Given the description of an element on the screen output the (x, y) to click on. 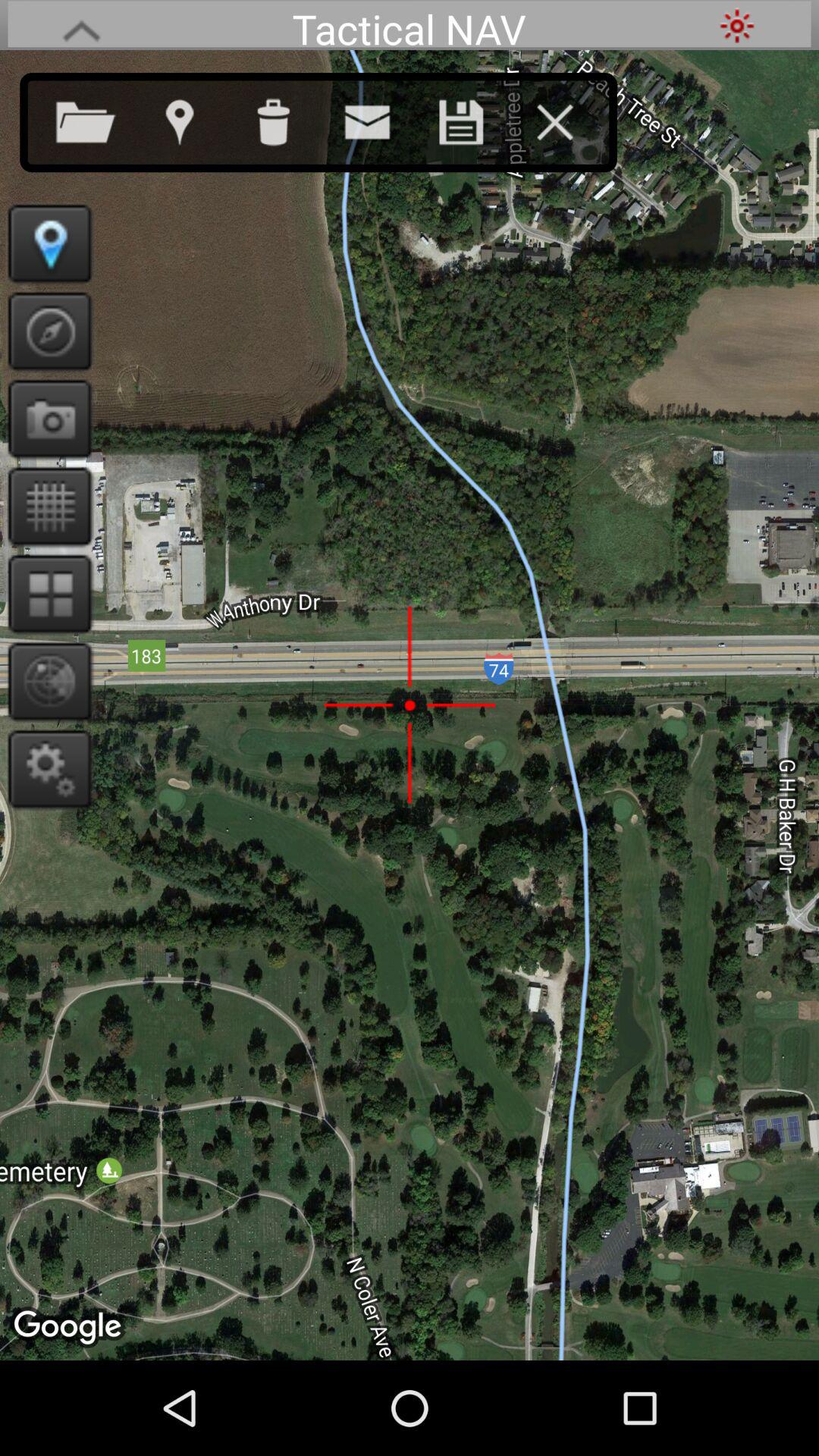
browse files (100, 119)
